Given the description of an element on the screen output the (x, y) to click on. 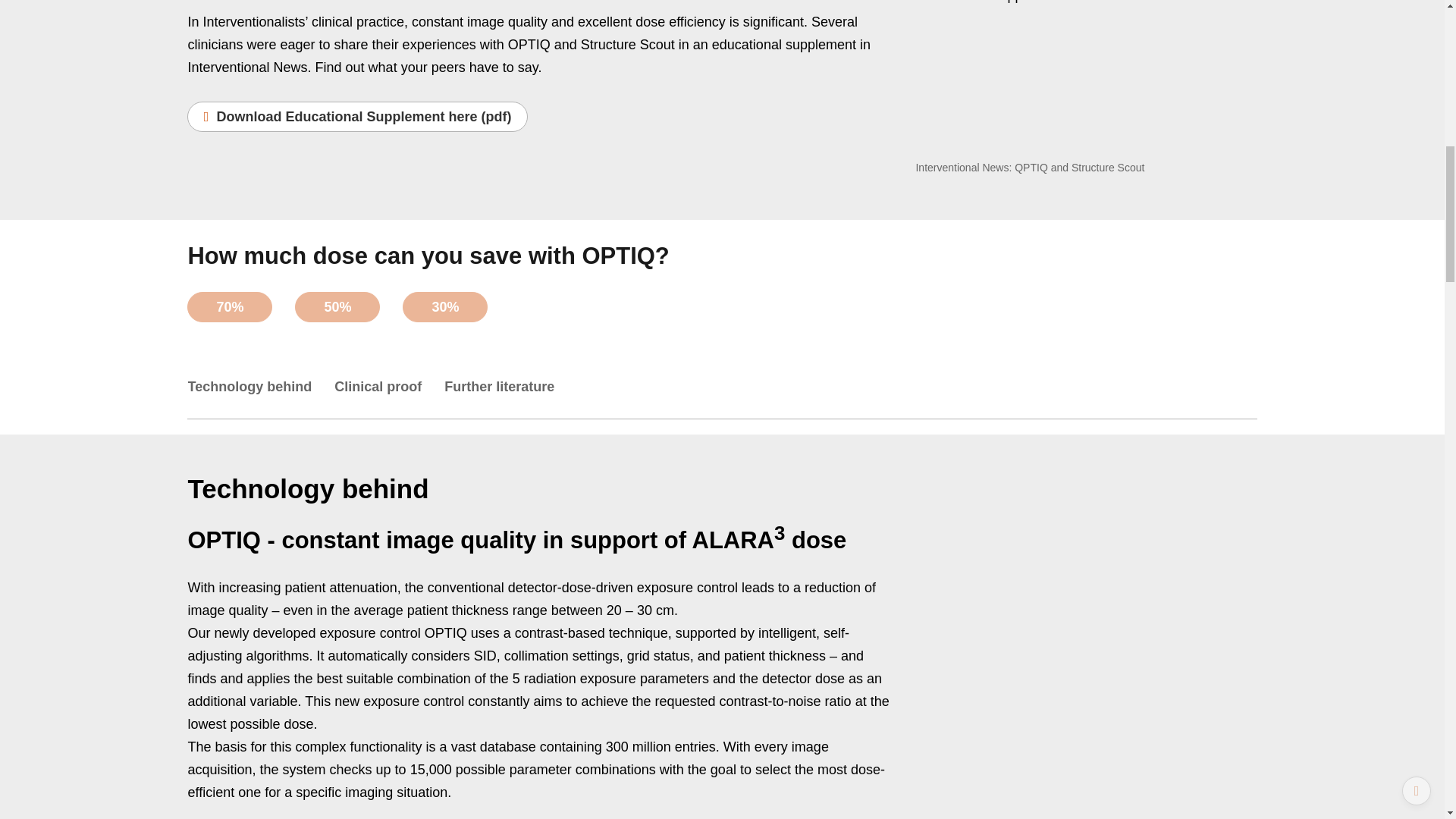
Technology behind (260, 392)
